Given the description of an element on the screen output the (x, y) to click on. 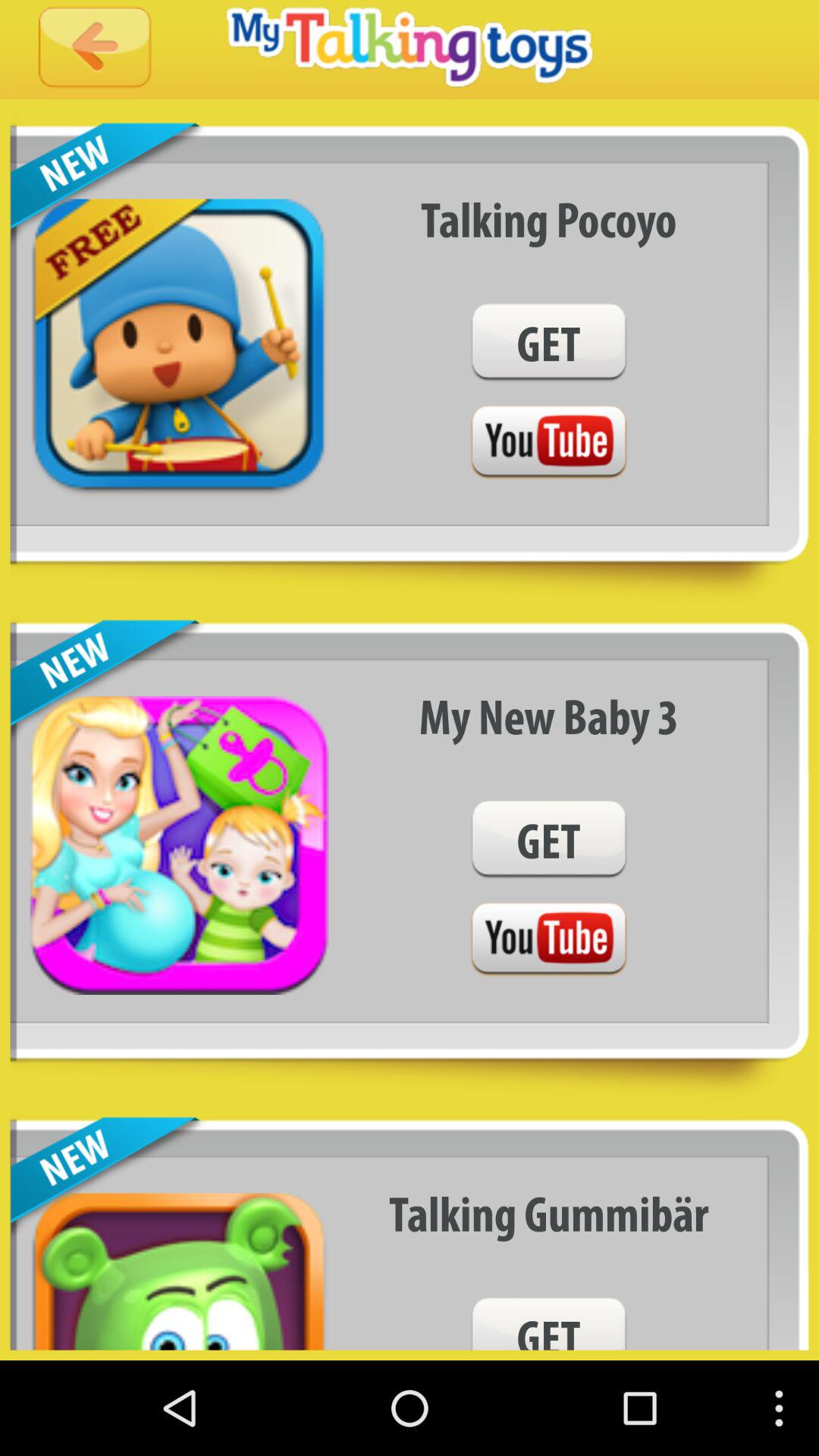
toggle a select option (548, 442)
